Given the description of an element on the screen output the (x, y) to click on. 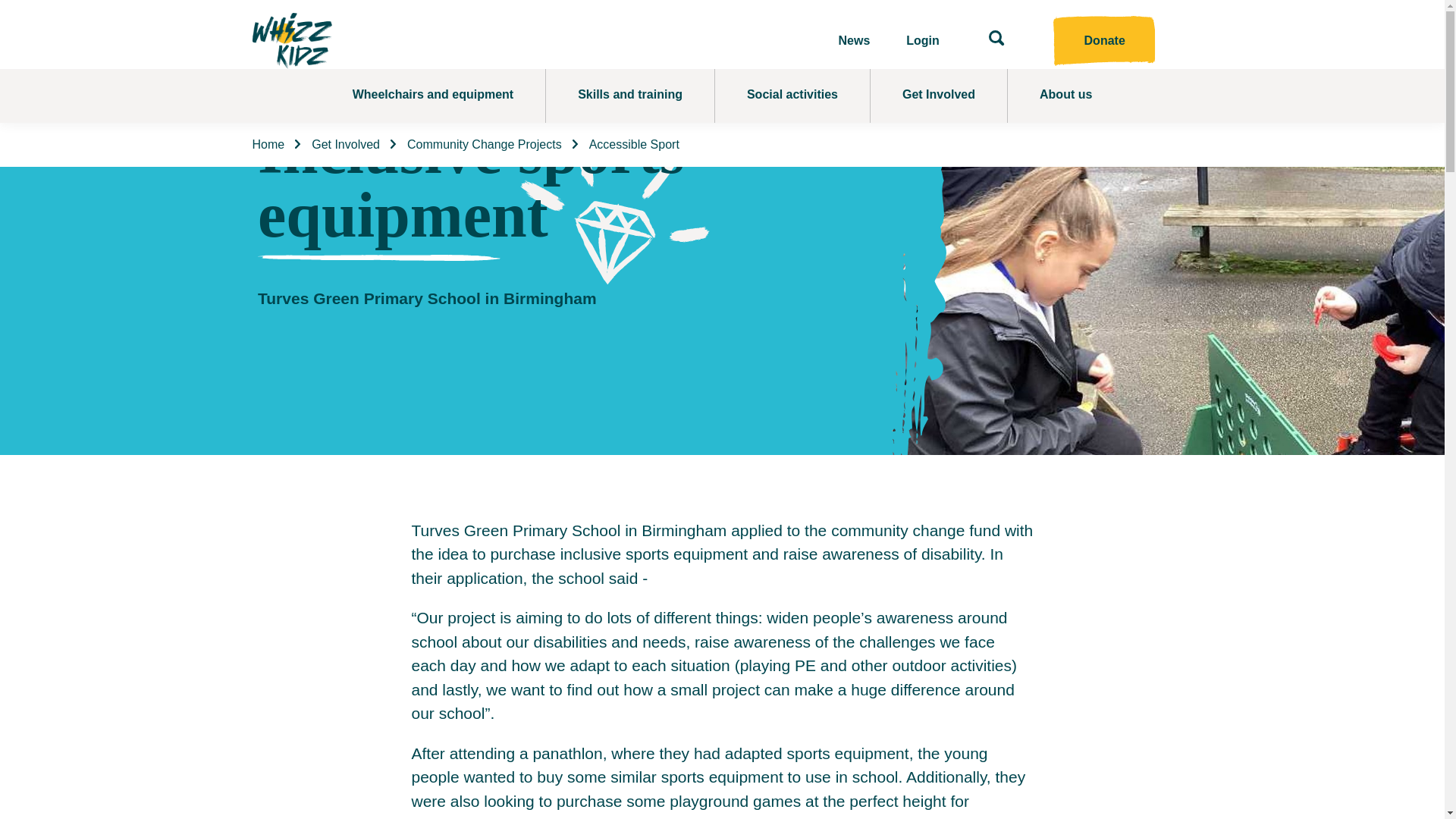
Wheelchairs and equipment (432, 95)
Login (922, 40)
Donate (1104, 40)
Get Involved (938, 95)
Whizz-Kidz (291, 40)
News (853, 40)
Skills and training (630, 95)
Social activities (792, 95)
